Given the description of an element on the screen output the (x, y) to click on. 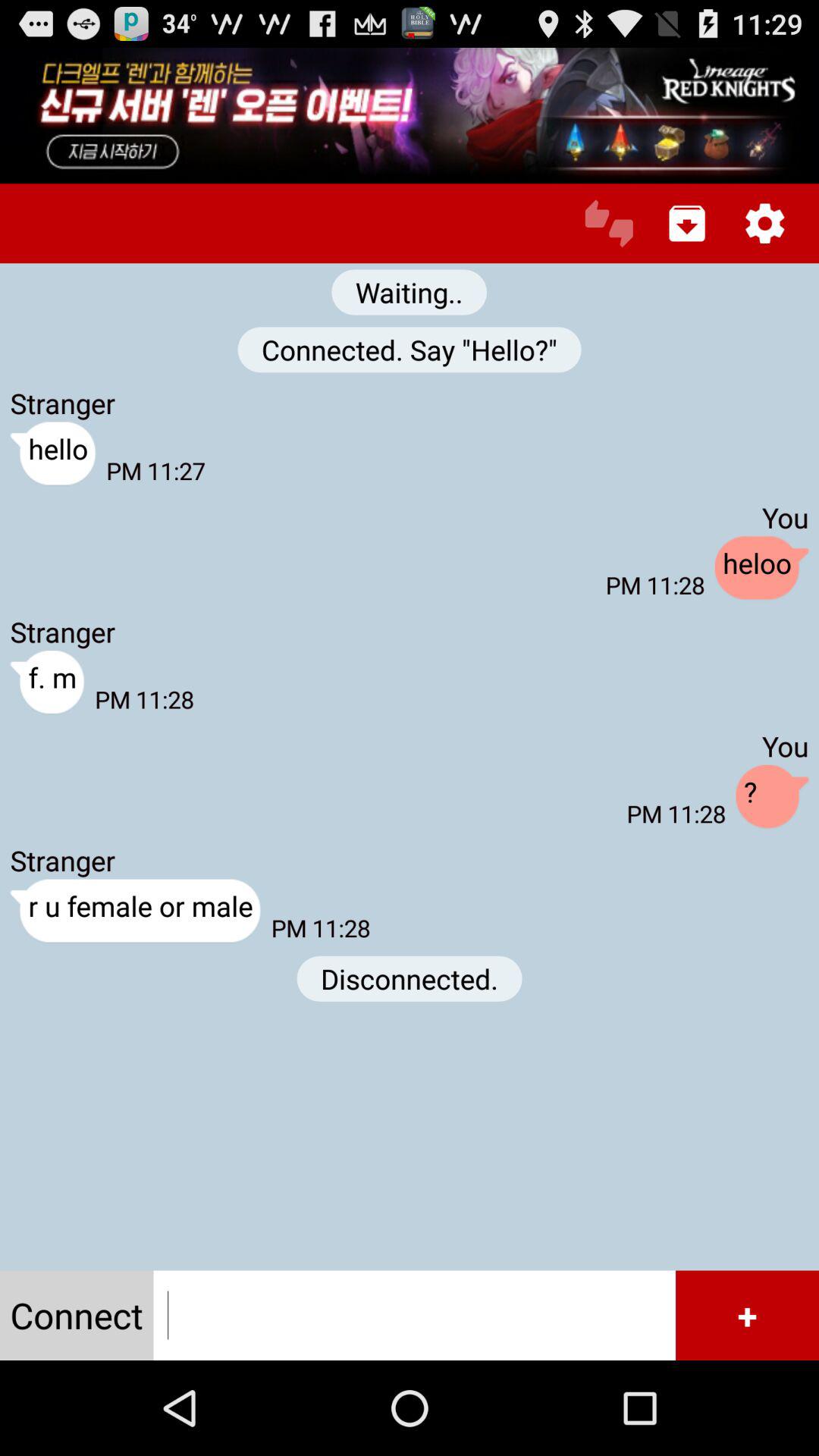
swipe until the + (747, 1315)
